Given the description of an element on the screen output the (x, y) to click on. 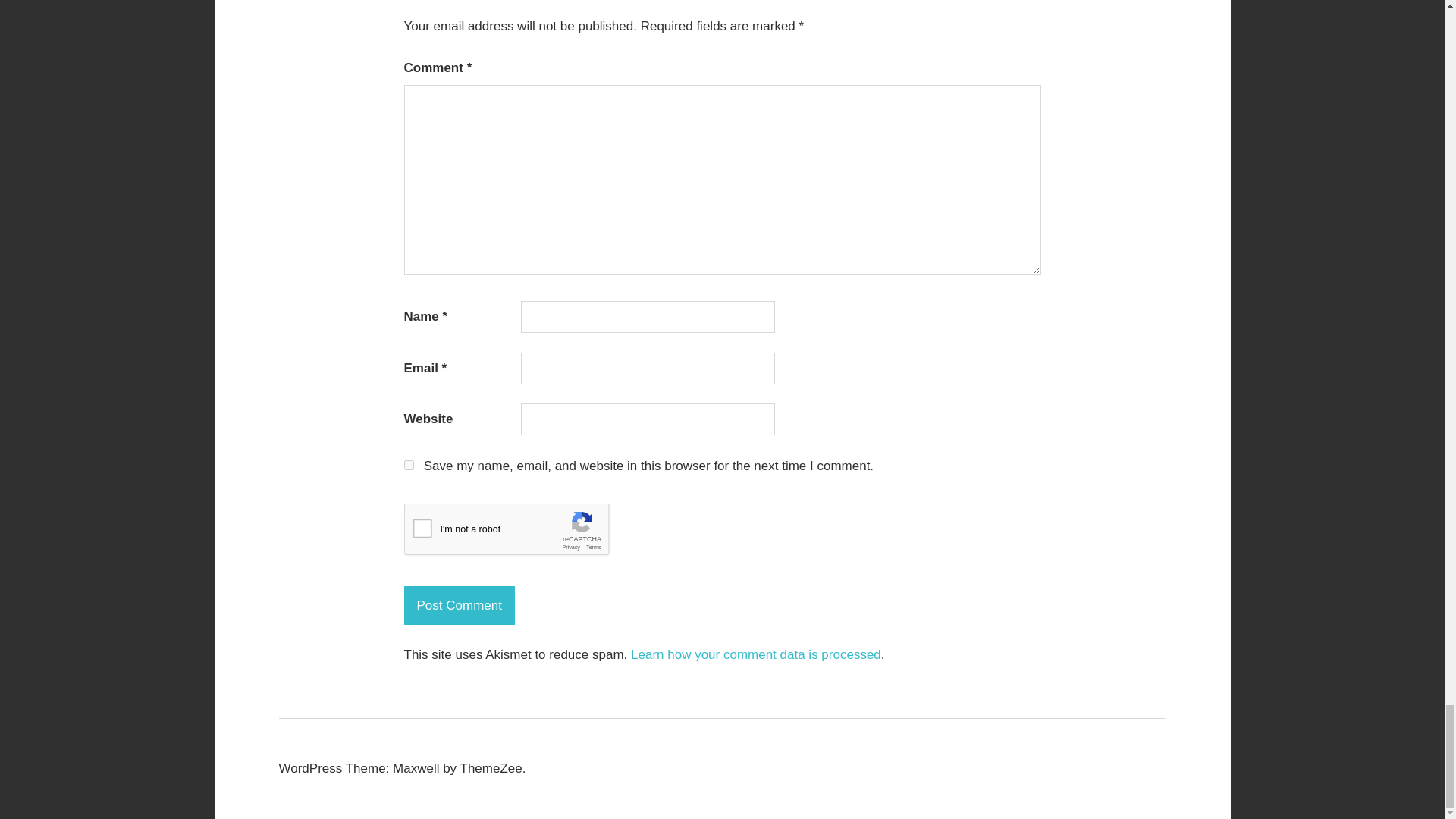
yes (408, 465)
Post Comment (458, 605)
Learn how your comment data is processed (755, 654)
reCAPTCHA (518, 532)
Post Comment (458, 605)
